Given the description of an element on the screen output the (x, y) to click on. 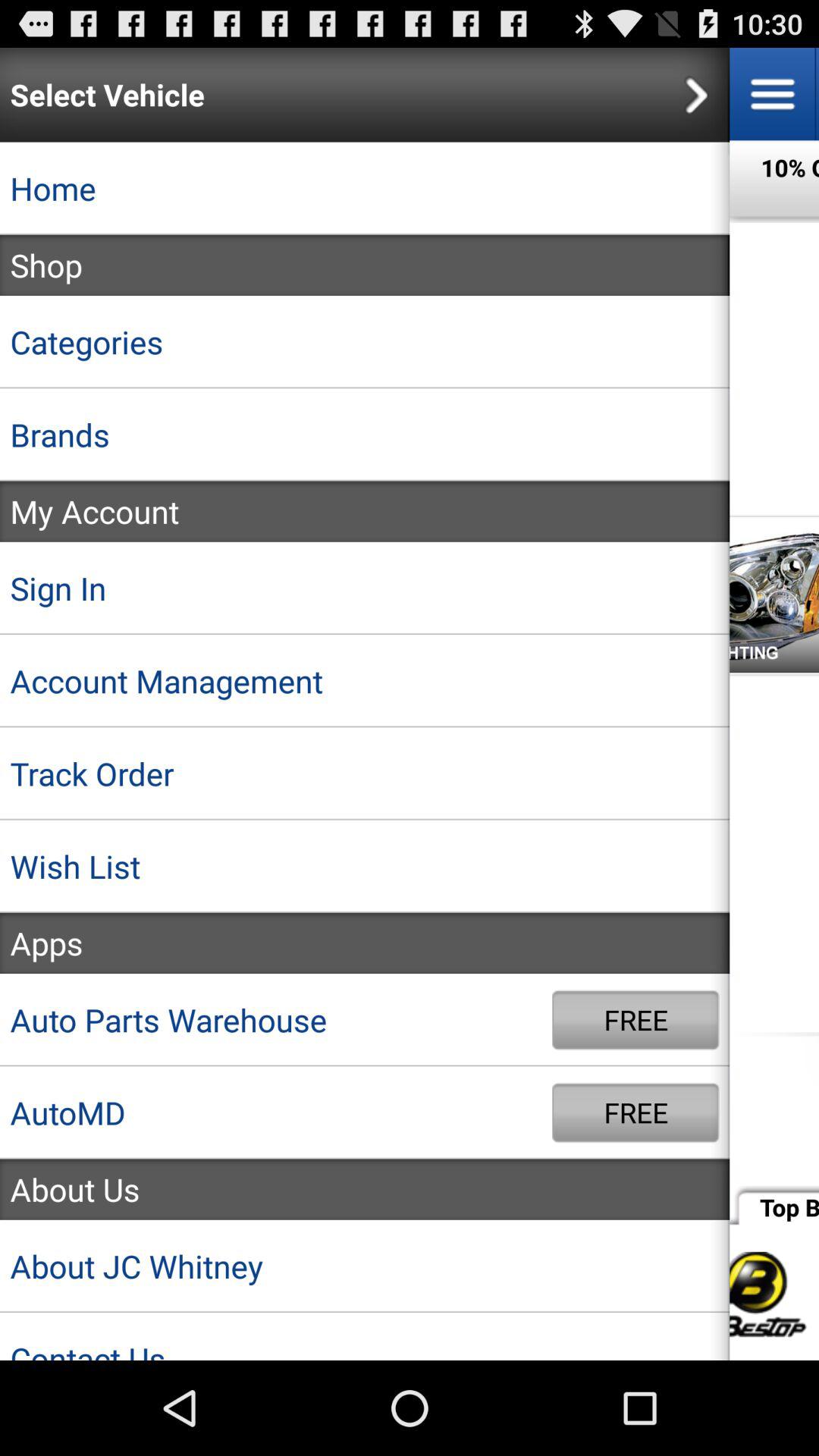
select the icon below home item (364, 264)
